Given the description of an element on the screen output the (x, y) to click on. 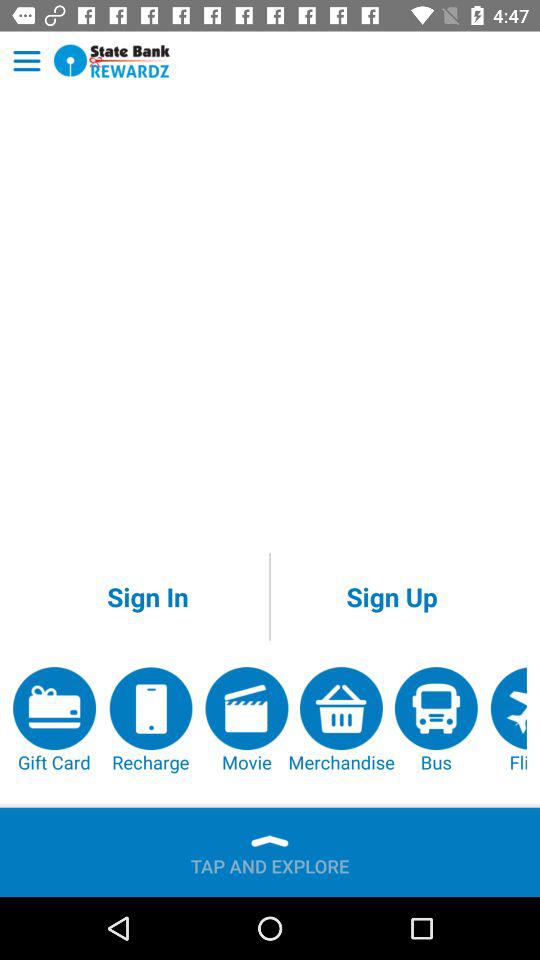
press item below the sign up (508, 720)
